Given the description of an element on the screen output the (x, y) to click on. 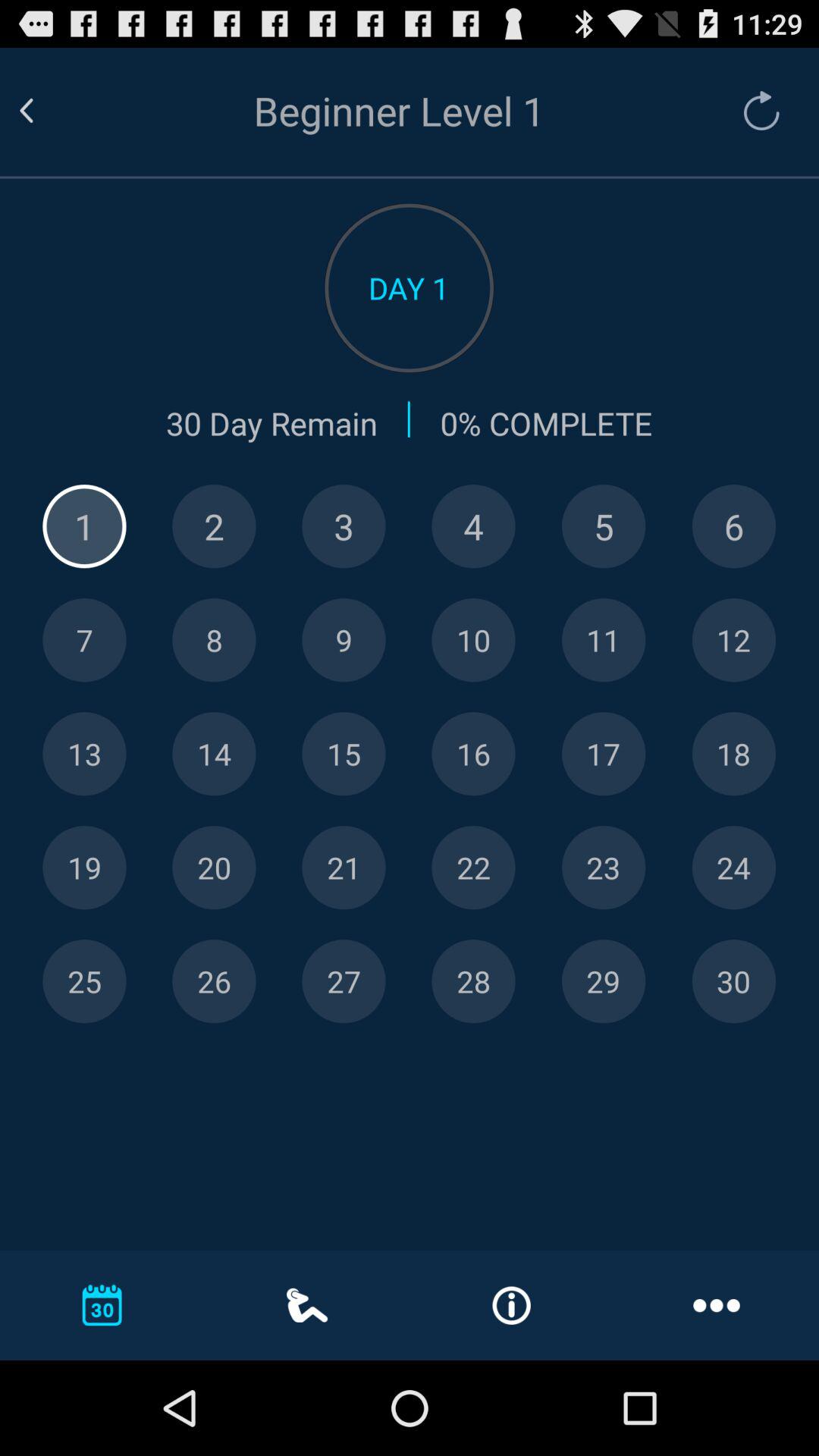
day twentysix (213, 981)
